Given the description of an element on the screen output the (x, y) to click on. 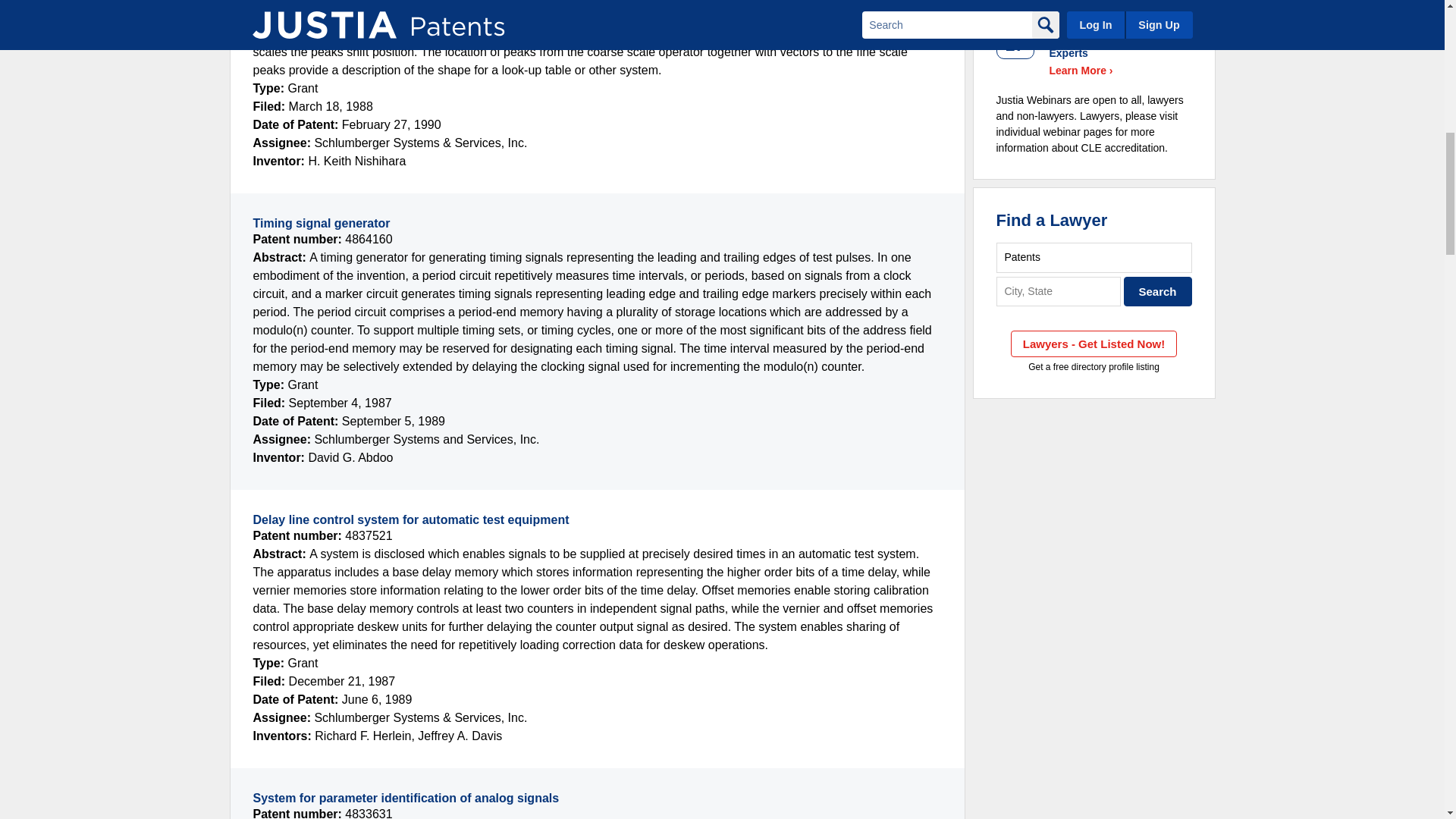
Search (1158, 291)
Legal Issue or Lawyer Name (1093, 256)
City, State (1058, 291)
Timing signal generator (321, 223)
Search (1158, 291)
Delay line control system for automatic test equipment (411, 519)
Patents (1093, 256)
System for parameter identification of analog signals (406, 797)
